Given the description of an element on the screen output the (x, y) to click on. 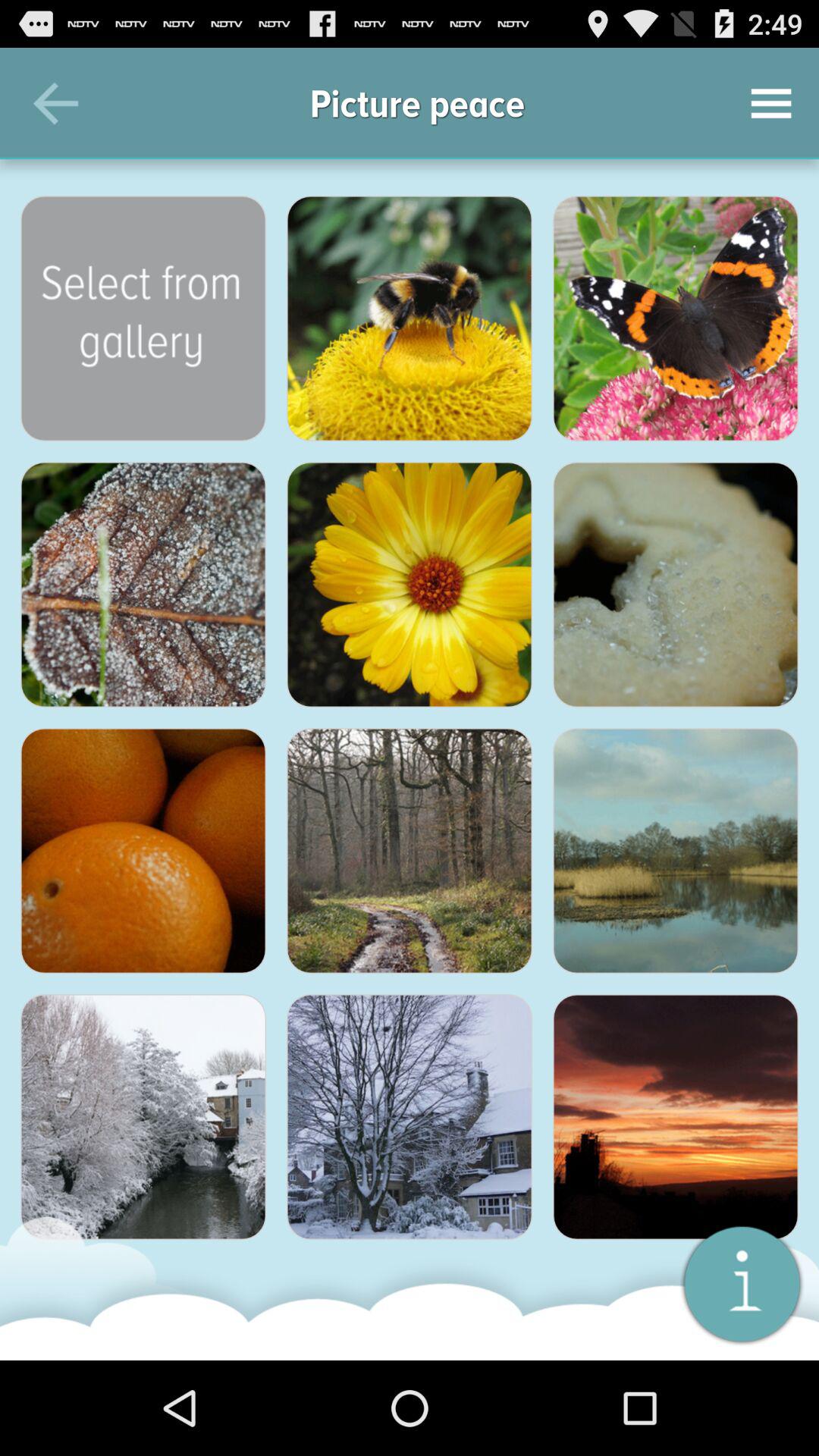
choose picture (409, 850)
